Given the description of an element on the screen output the (x, y) to click on. 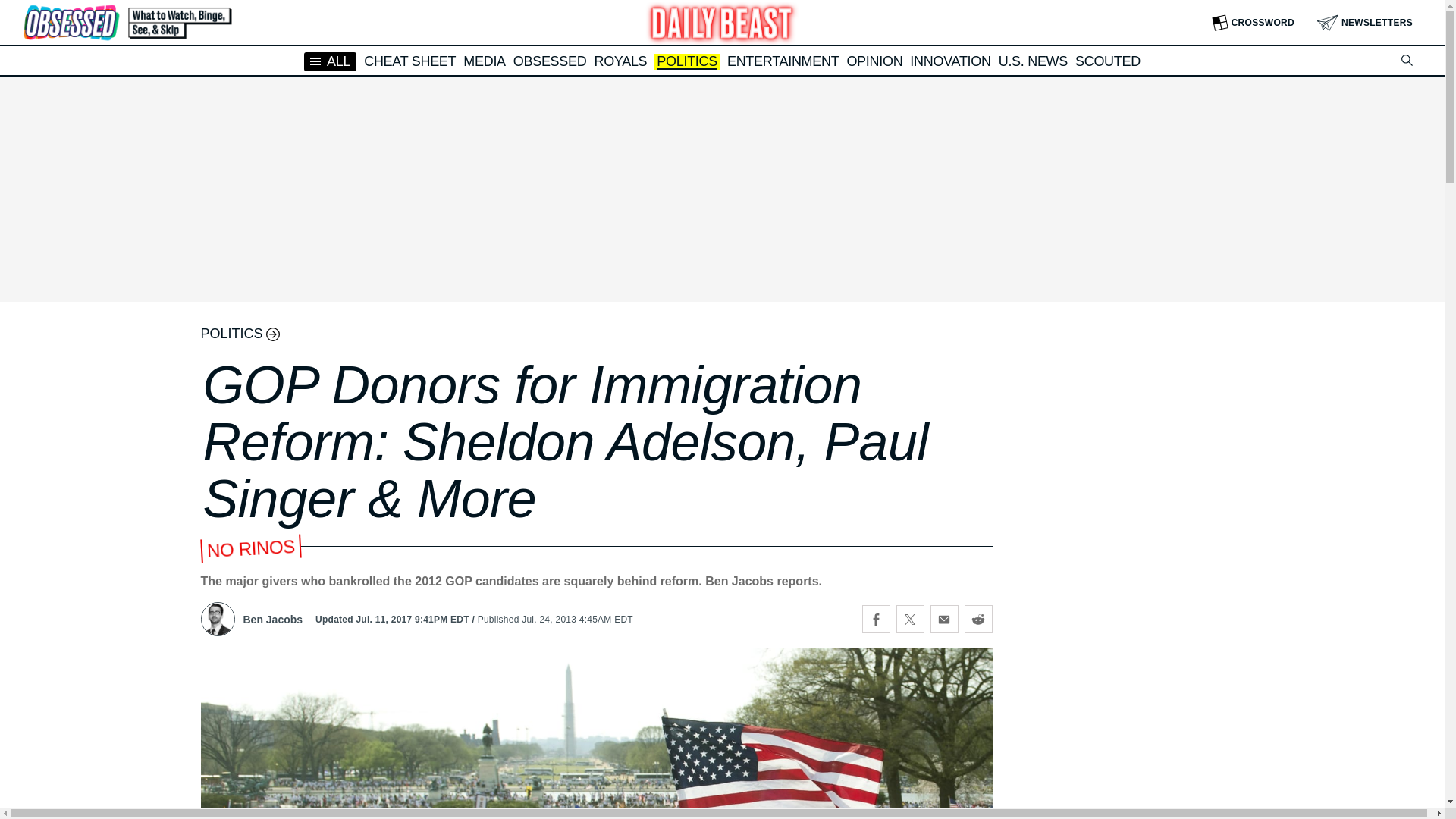
SCOUTED (1107, 60)
CROSSWORD (1252, 22)
INNOVATION (950, 60)
NEWSLETTERS (1364, 22)
ROYALS (620, 60)
ENTERTAINMENT (782, 60)
OBSESSED (549, 60)
MEDIA (484, 60)
CHEAT SHEET (409, 60)
POLITICS (686, 61)
ALL (330, 60)
U.S. NEWS (1032, 60)
OPINION (873, 60)
